Given the description of an element on the screen output the (x, y) to click on. 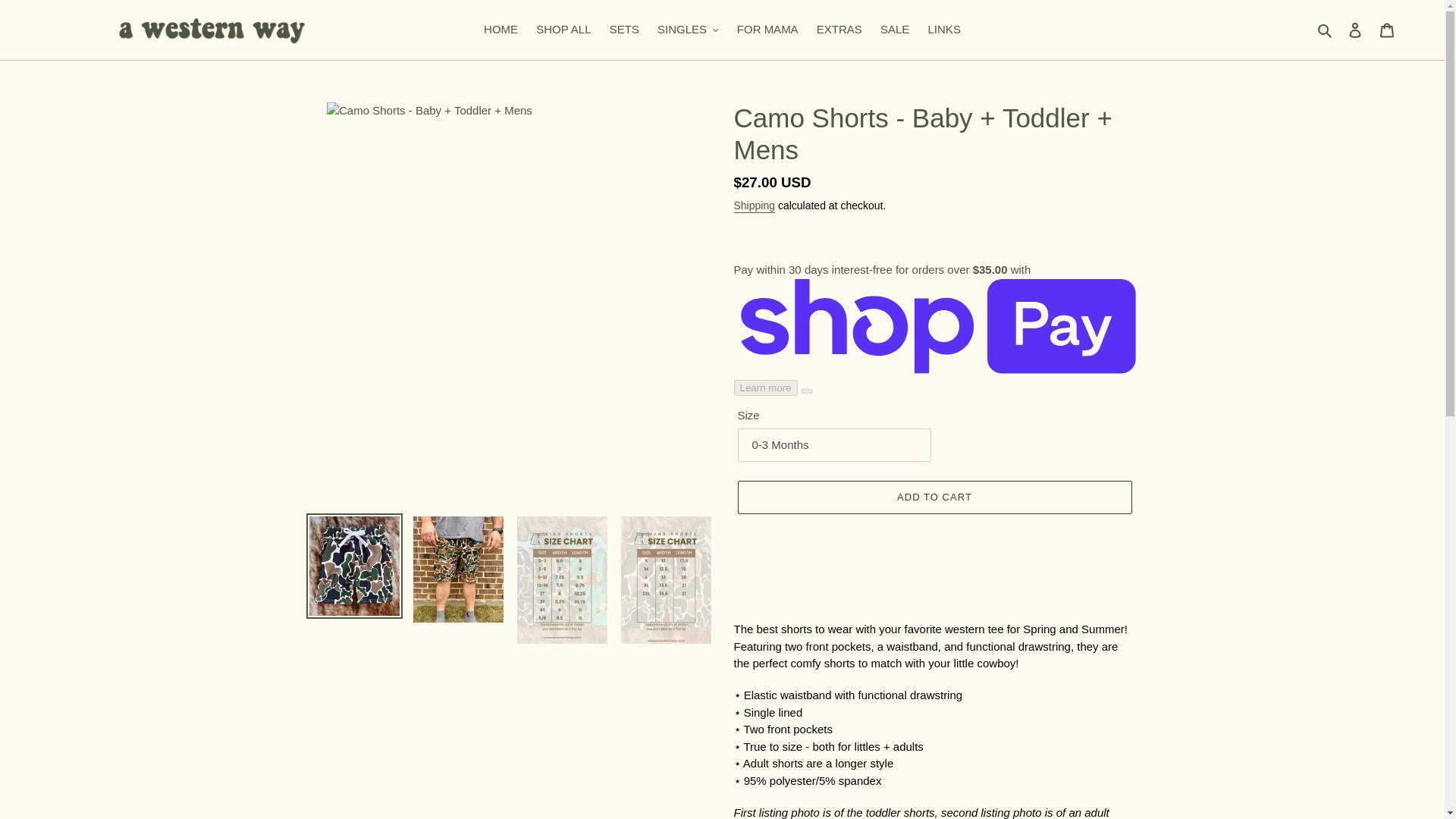
FOR MAMA (767, 29)
HOME (500, 29)
SINGLES (687, 29)
Search (1326, 29)
SALE (894, 29)
EXTRAS (839, 29)
LINKS (944, 29)
Log in (1355, 29)
SHOP ALL (563, 29)
SETS (624, 29)
